Given the description of an element on the screen output the (x, y) to click on. 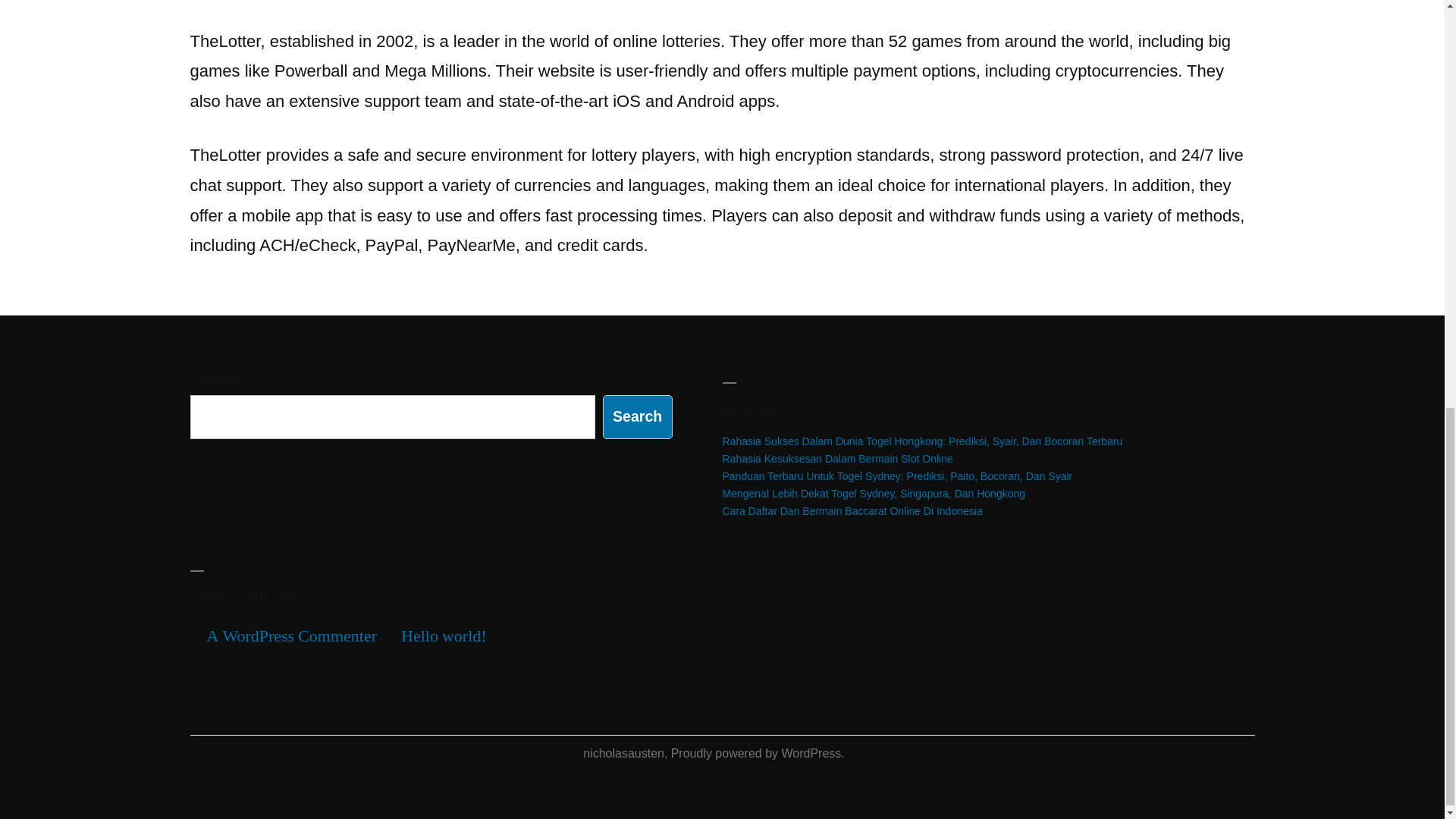
Proudly powered by WordPress. (757, 753)
Cara Daftar Dan Bermain Baccarat Online Di Indonesia (851, 510)
Rahasia Kesuksesan Dalam Bermain Slot Online (837, 458)
A WordPress Commenter (291, 636)
Search (637, 416)
Mengenal Lebih Dekat Togel Sydney, Singapura, Dan Hongkong (873, 493)
Hello world! (443, 636)
nicholasausten (623, 753)
